Given the description of an element on the screen output the (x, y) to click on. 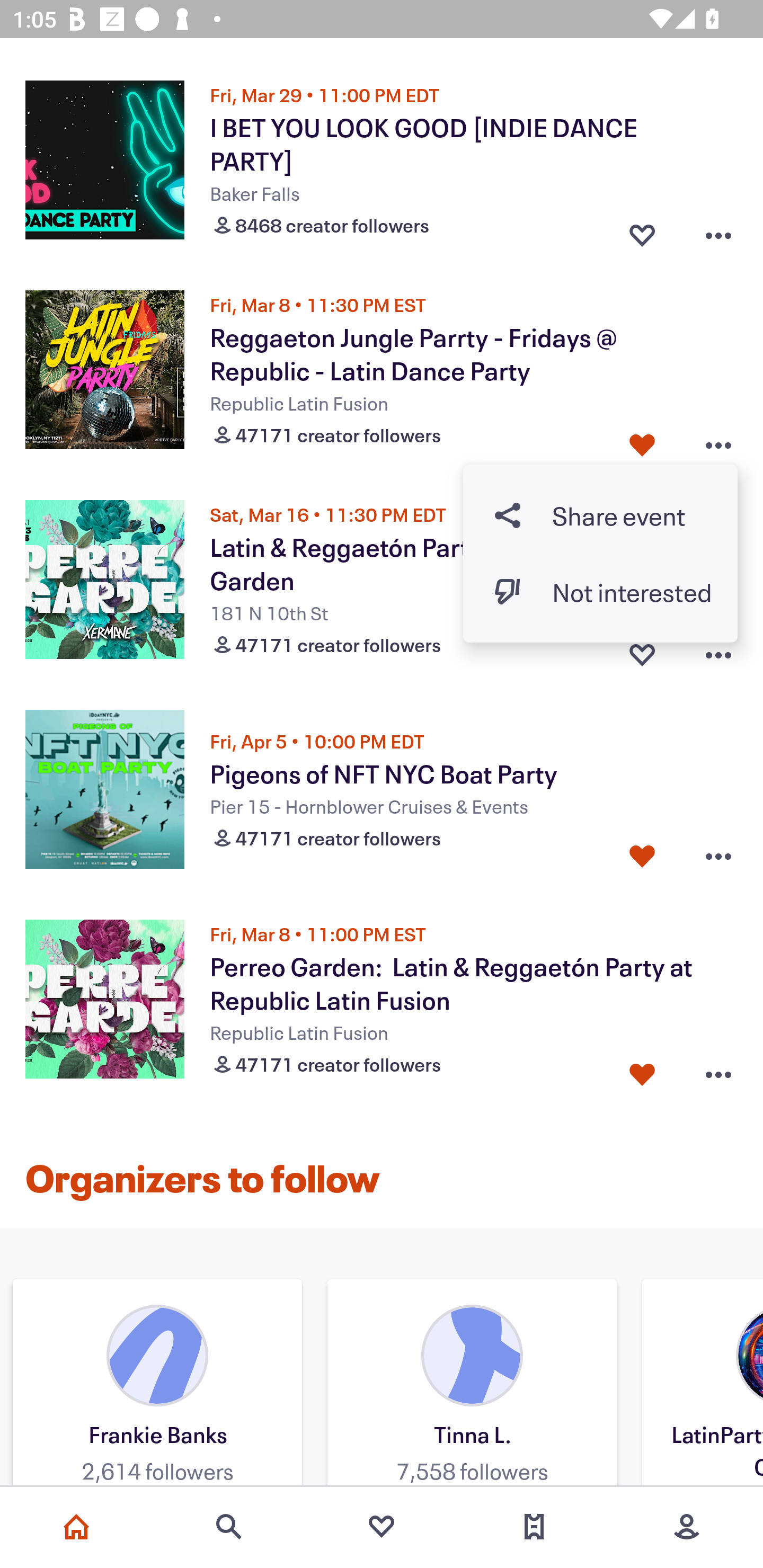
Share button Share event (600, 514)
Dislike event button Not interested (600, 591)
